Given the description of an element on the screen output the (x, y) to click on. 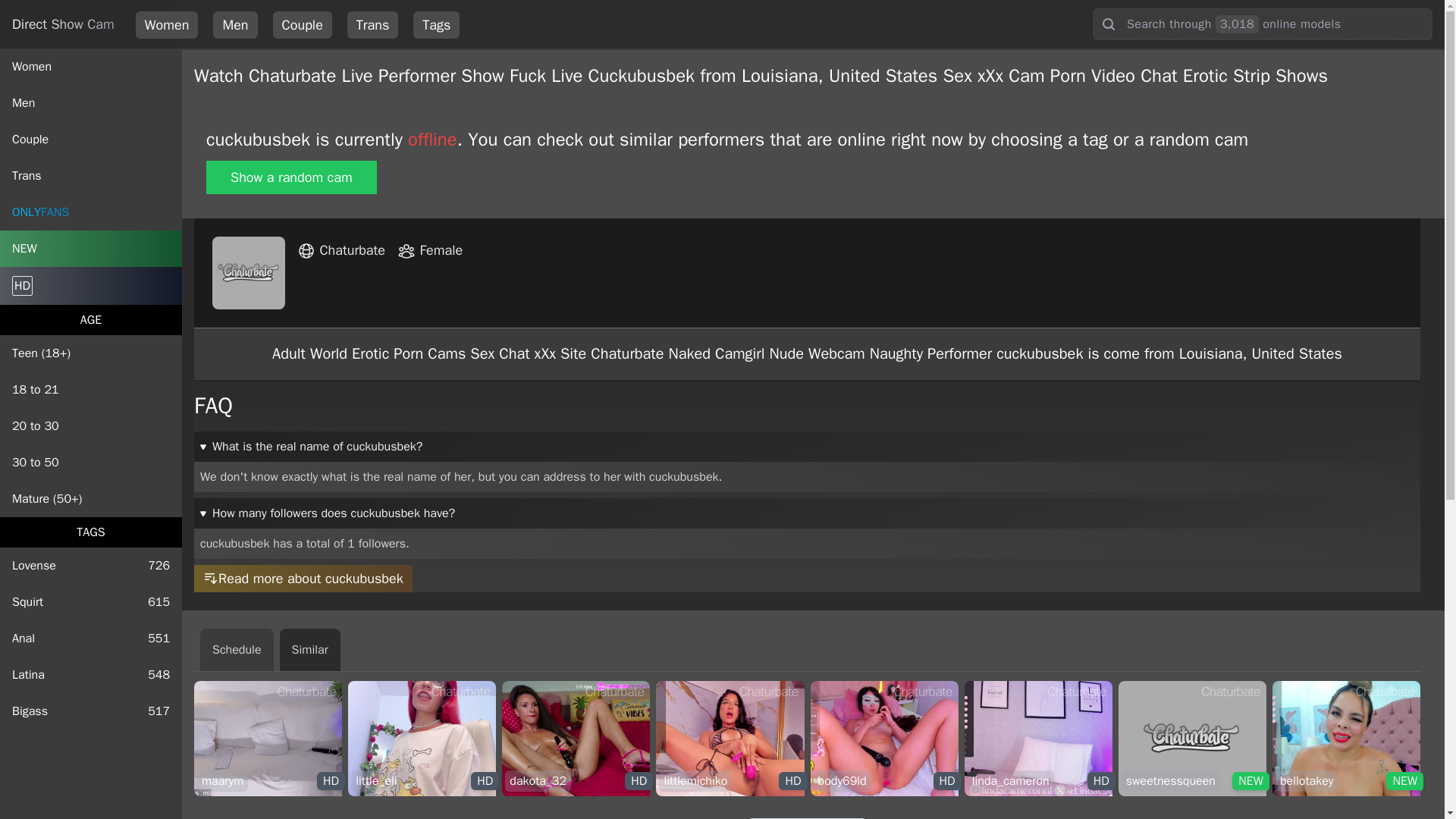
Chaturbate (91, 601)
Chaturbate (922, 690)
Chaturbate (91, 565)
Female (91, 674)
NEW (306, 690)
Trans (460, 690)
18 to 21 (91, 710)
ONLYFANS (430, 250)
Direct Show Cam (91, 248)
Read more about cuckubusbek (372, 24)
Couple (91, 389)
